Given the description of an element on the screen output the (x, y) to click on. 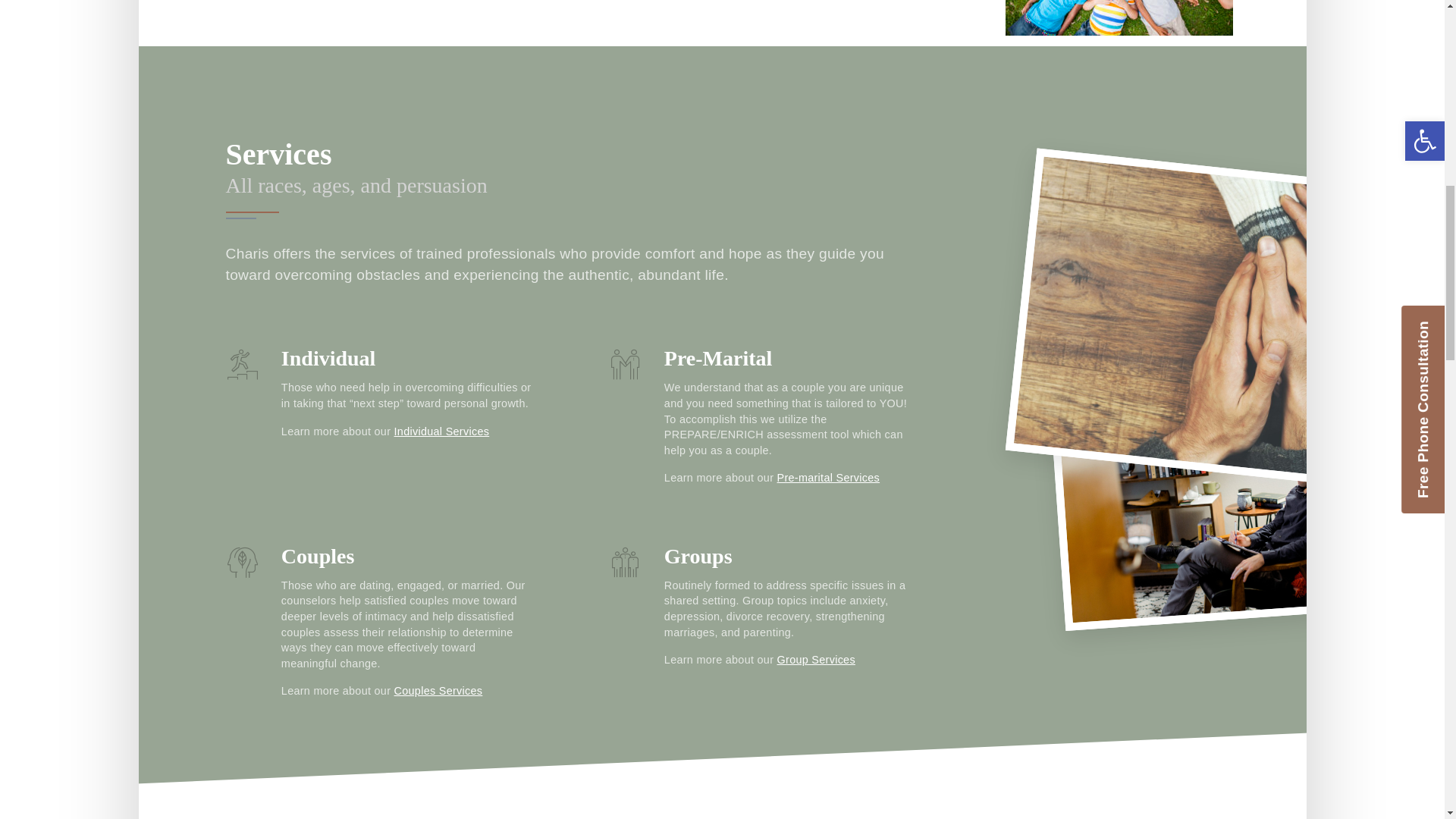
Kids outside (1119, 18)
